Given the description of an element on the screen output the (x, y) to click on. 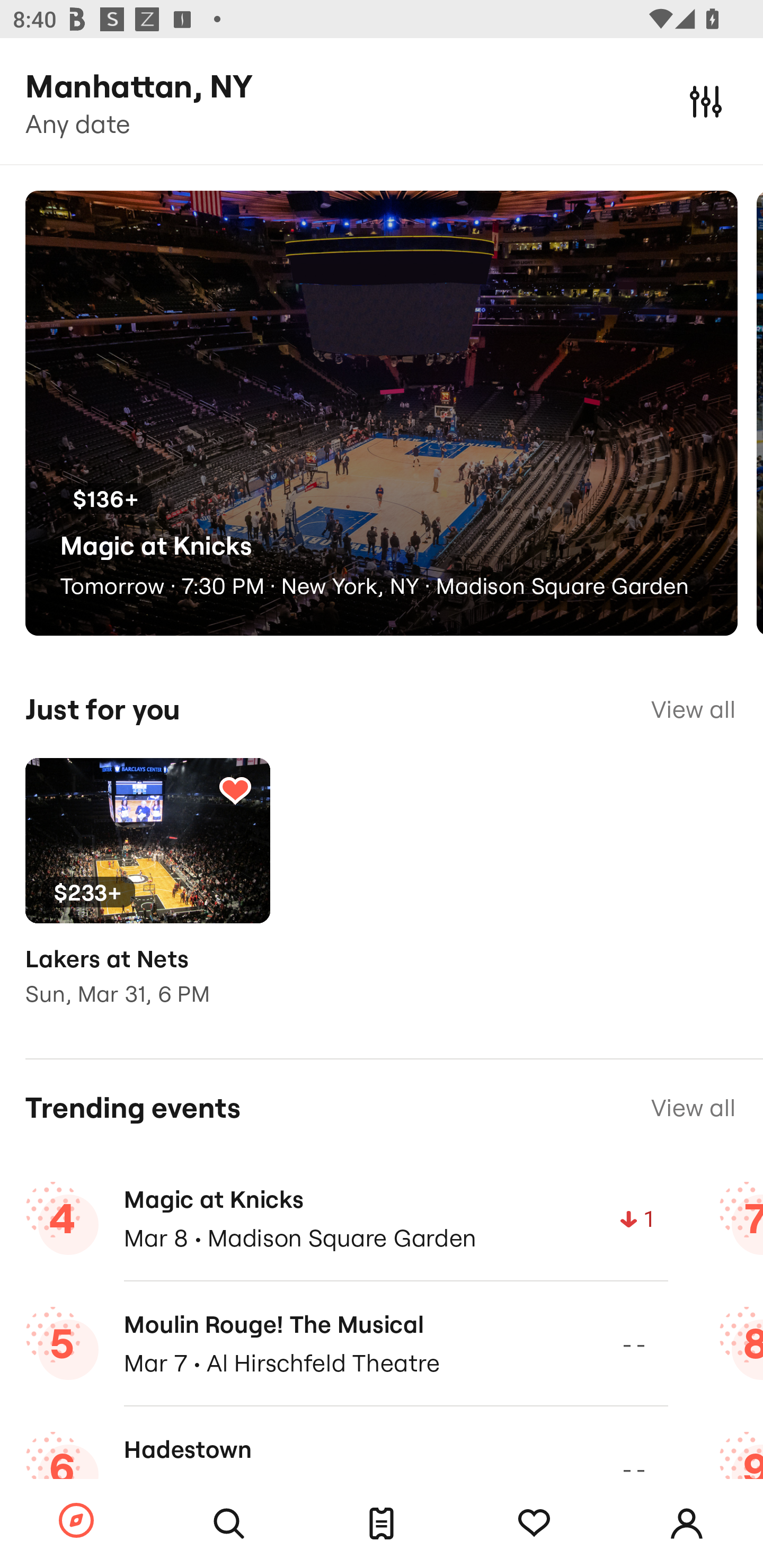
Filters (705, 100)
View all (693, 709)
Tracking $233+ Lakers at Nets Sun, Mar 31, 6 PM (147, 895)
Tracking (234, 790)
View all (693, 1108)
Browse (76, 1521)
Search (228, 1523)
Tickets (381, 1523)
Tracking (533, 1523)
Account (686, 1523)
